Given the description of an element on the screen output the (x, y) to click on. 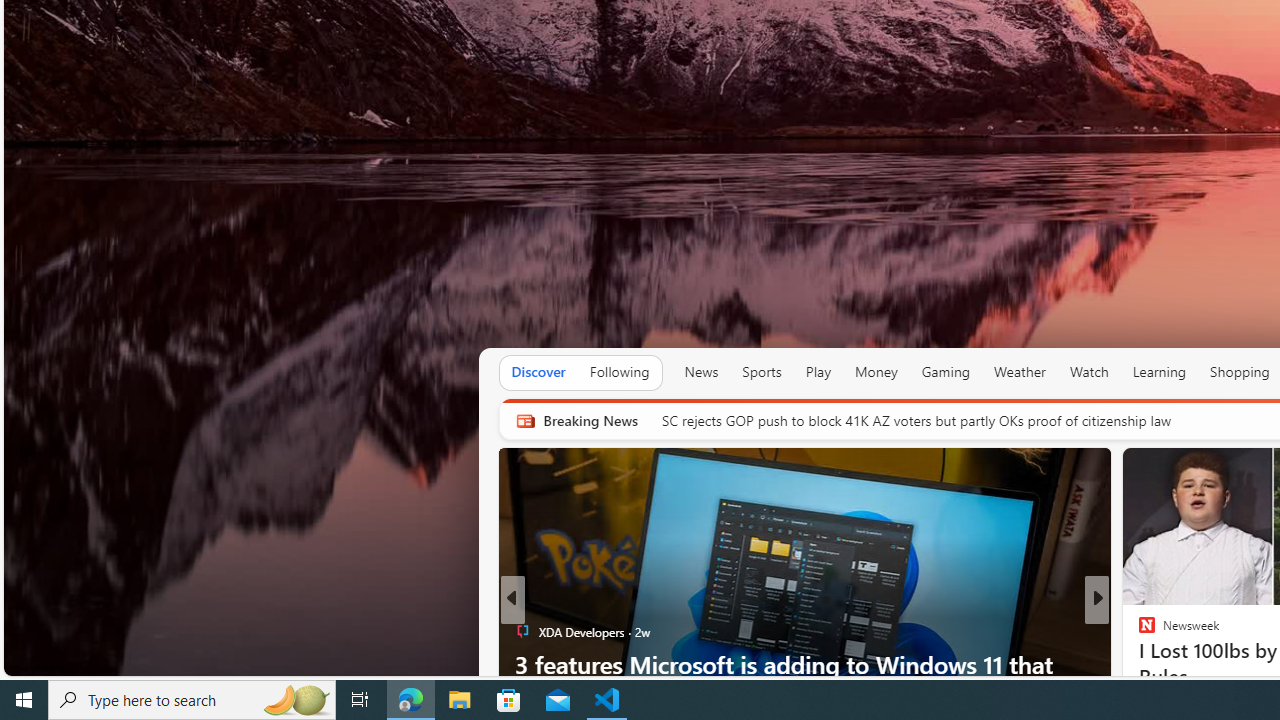
save70.com (545, 632)
Money (876, 372)
HowToGeek (1138, 663)
Money (875, 371)
Sports (761, 371)
Learning (1159, 371)
Learning (1159, 372)
Popular Mechanics (1138, 632)
INSIDER (1138, 632)
